Given the description of an element on the screen output the (x, y) to click on. 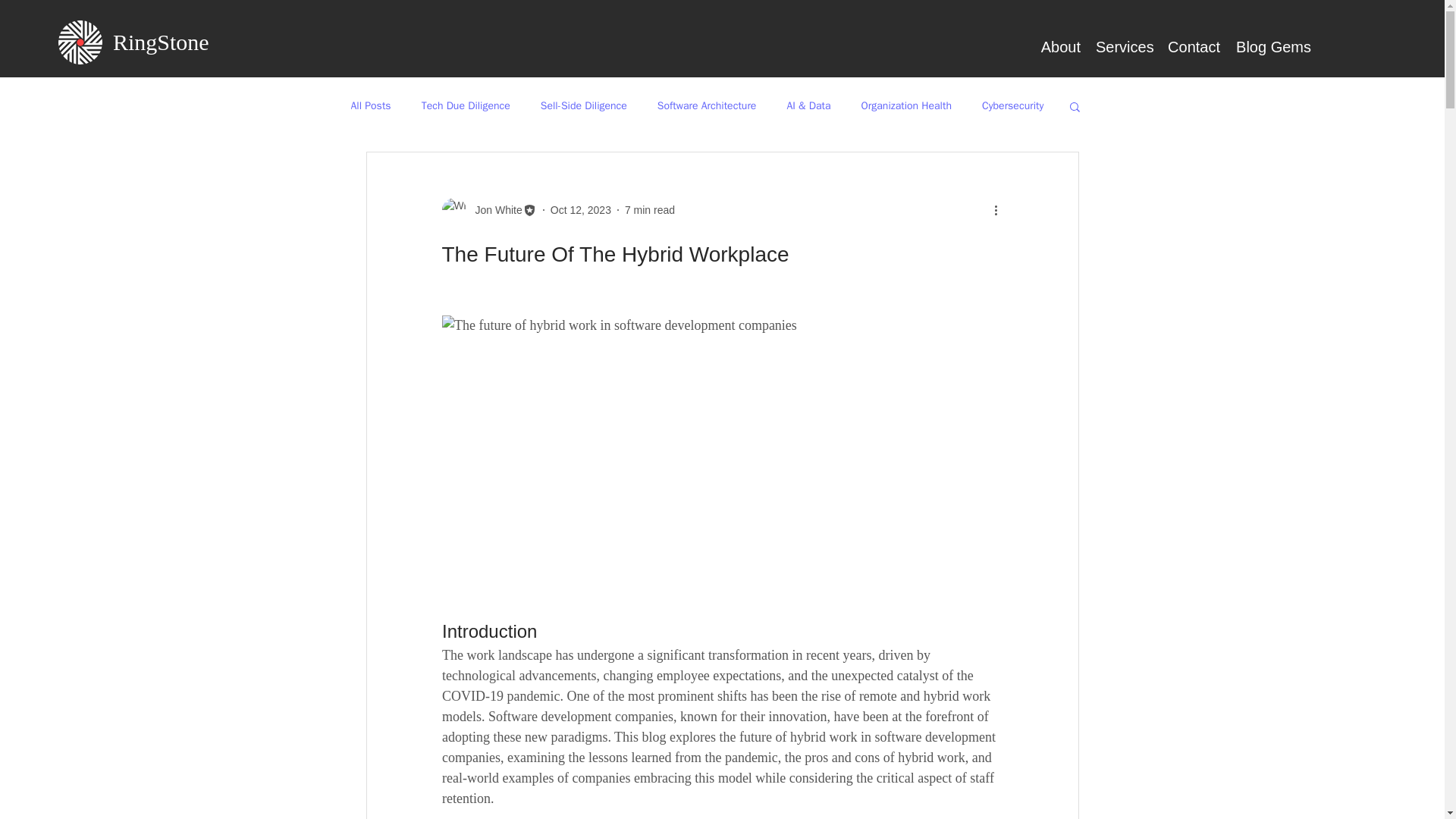
RingStone (161, 41)
7 min read (649, 209)
Jon White (493, 210)
Sell-Side Diligence (583, 106)
All Posts (370, 106)
Organization Health (906, 106)
Software Architecture (707, 106)
Services (1122, 47)
Contact (1192, 47)
Tech Due Diligence (466, 106)
About (1058, 47)
Oct 12, 2023 (580, 209)
Blog Gems (1273, 47)
Cybersecurity (1012, 106)
Jon White (488, 209)
